Given the description of an element on the screen output the (x, y) to click on. 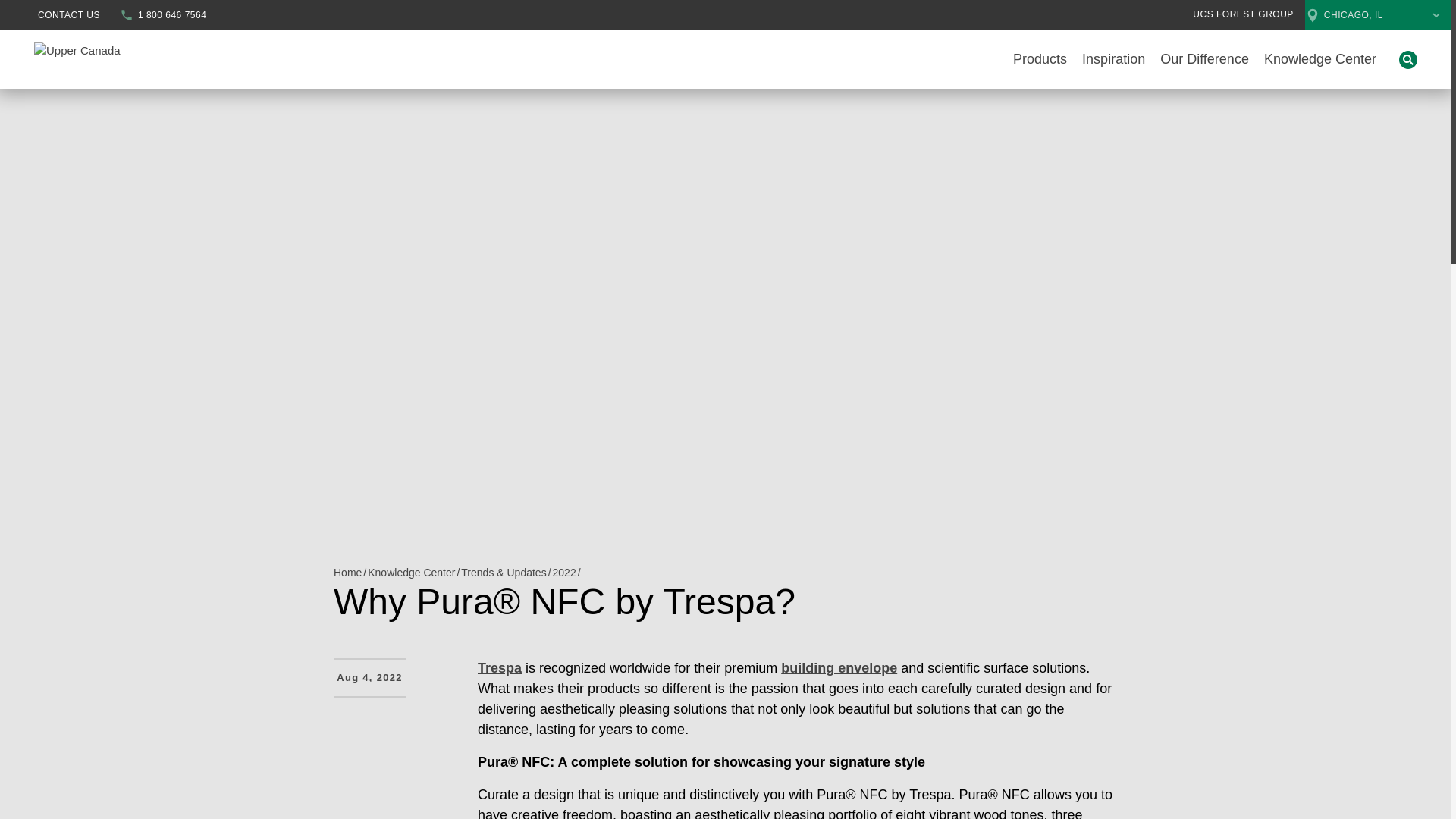
1 800 646 7564 (162, 14)
CONTACT US (68, 15)
Inspiration (1112, 59)
Products (1040, 59)
2022 (564, 570)
UCS FOREST GROUP (1242, 14)
Trespa (499, 668)
Knowledge Center (411, 570)
building envelope (838, 668)
Home (347, 570)
